Given the description of an element on the screen output the (x, y) to click on. 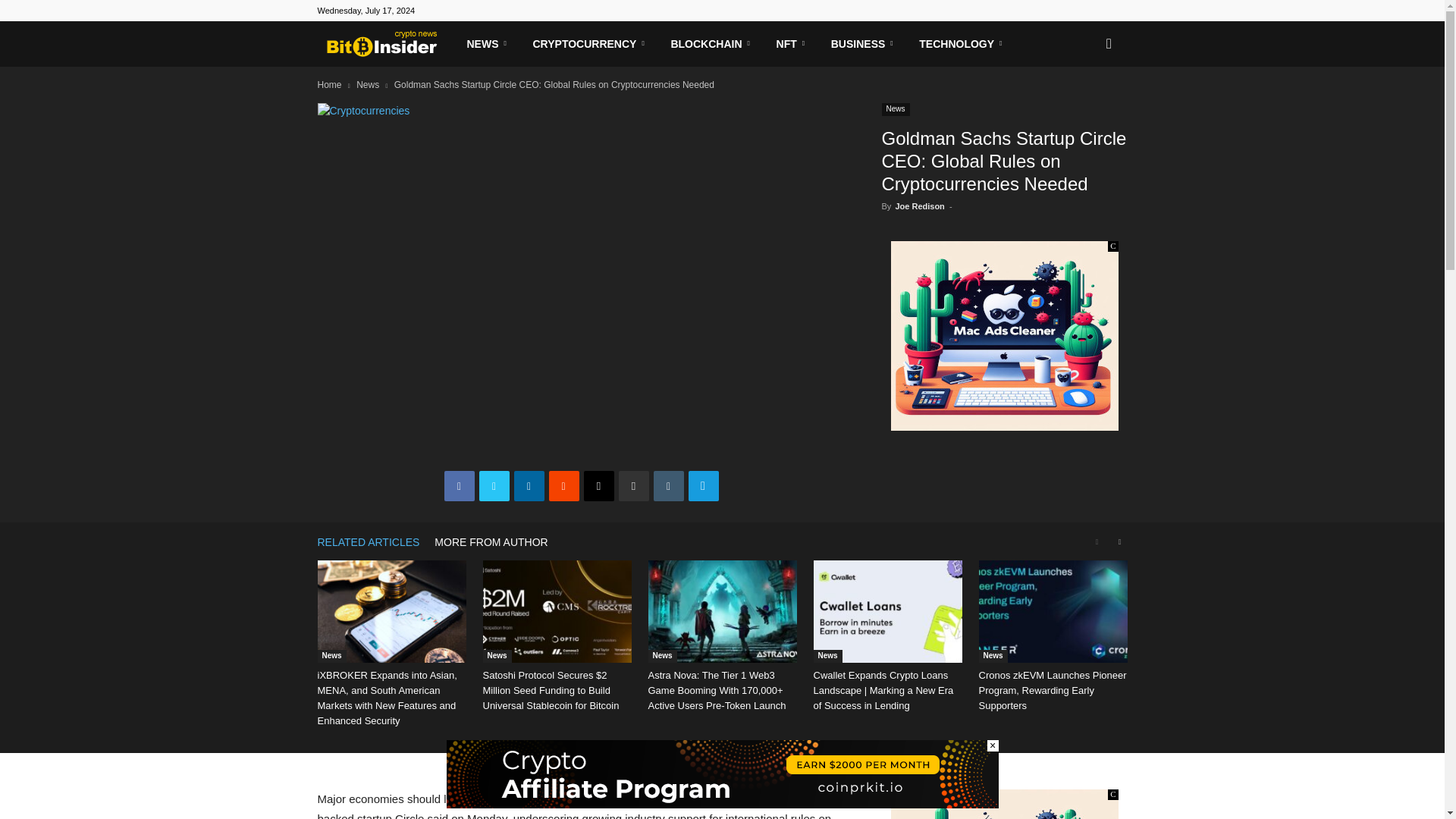
BitinsIder.news (386, 44)
NEWS (489, 43)
